Given the description of an element on the screen output the (x, y) to click on. 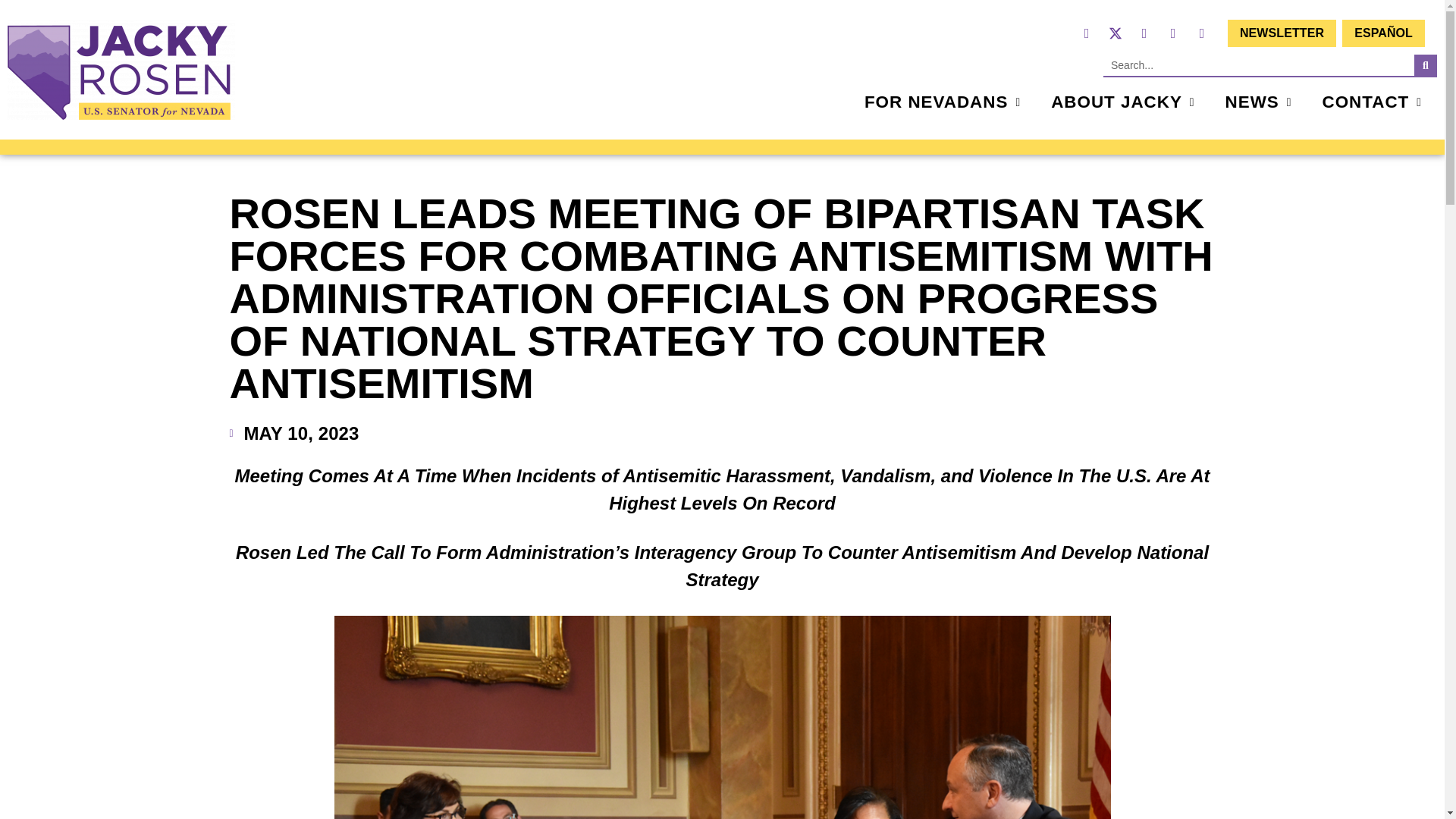
ABOUT JACKY (1122, 102)
FOR NEVADANS (941, 102)
NEWS (1258, 102)
